Given the description of an element on the screen output the (x, y) to click on. 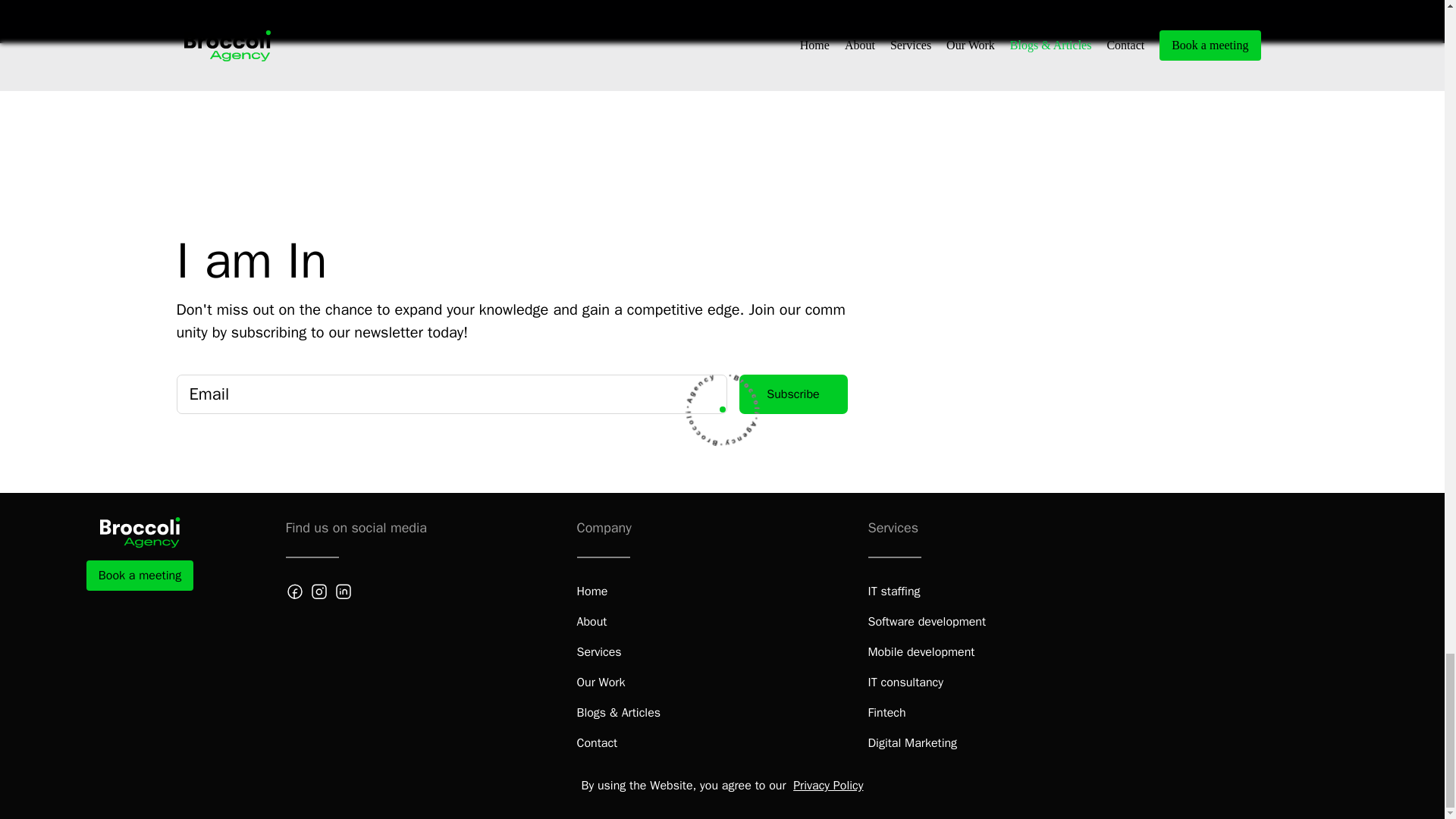
Contact (596, 742)
About (591, 621)
IT staffing (893, 591)
Subscribe (792, 394)
Our Work (600, 682)
Book a meeting (139, 575)
Fintech (886, 712)
Digital Marketing (911, 742)
Software development (926, 621)
IT consultancy (904, 682)
